Given the description of an element on the screen output the (x, y) to click on. 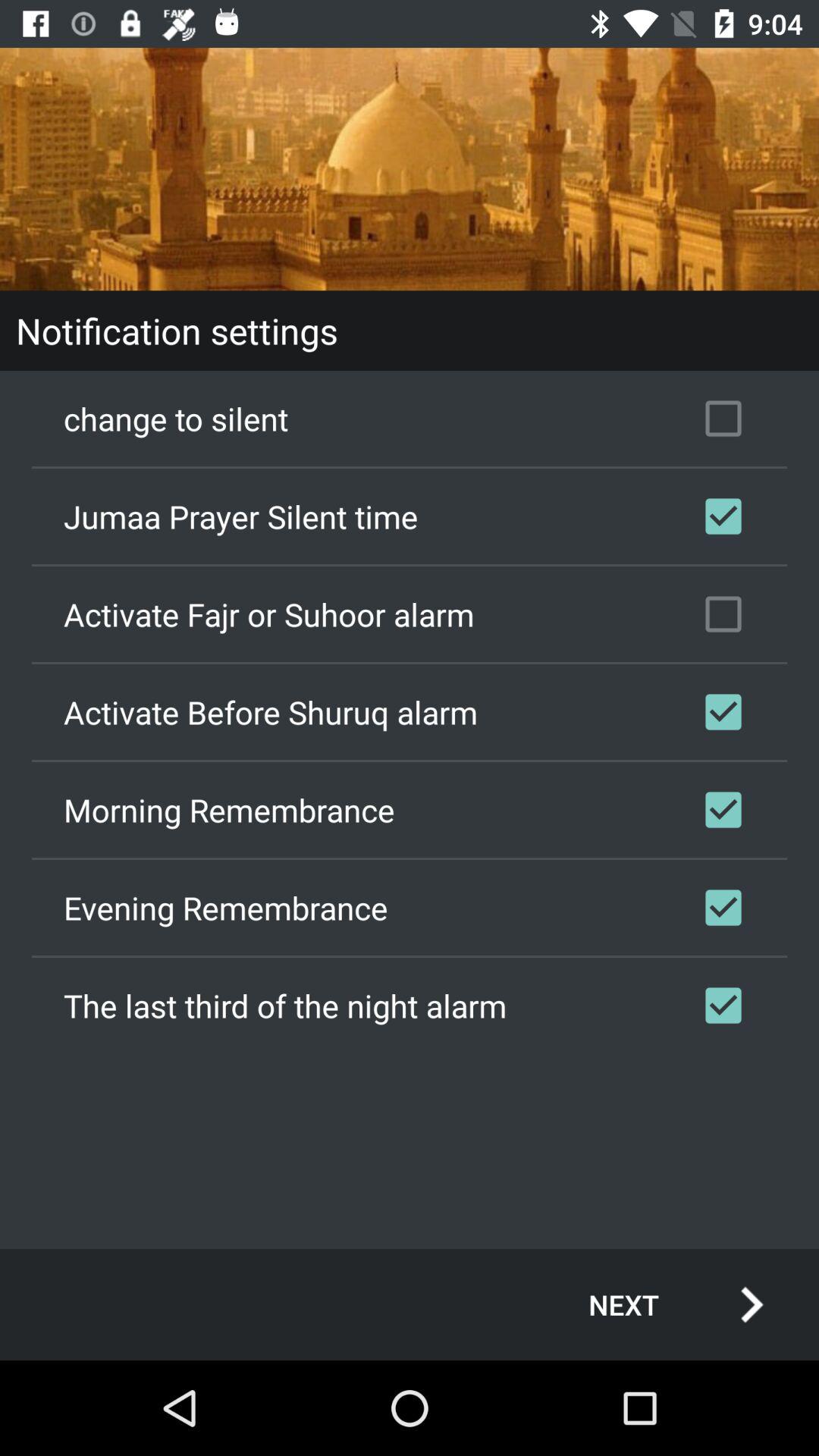
choose the icon below the jumaa prayer silent icon (409, 614)
